Given the description of an element on the screen output the (x, y) to click on. 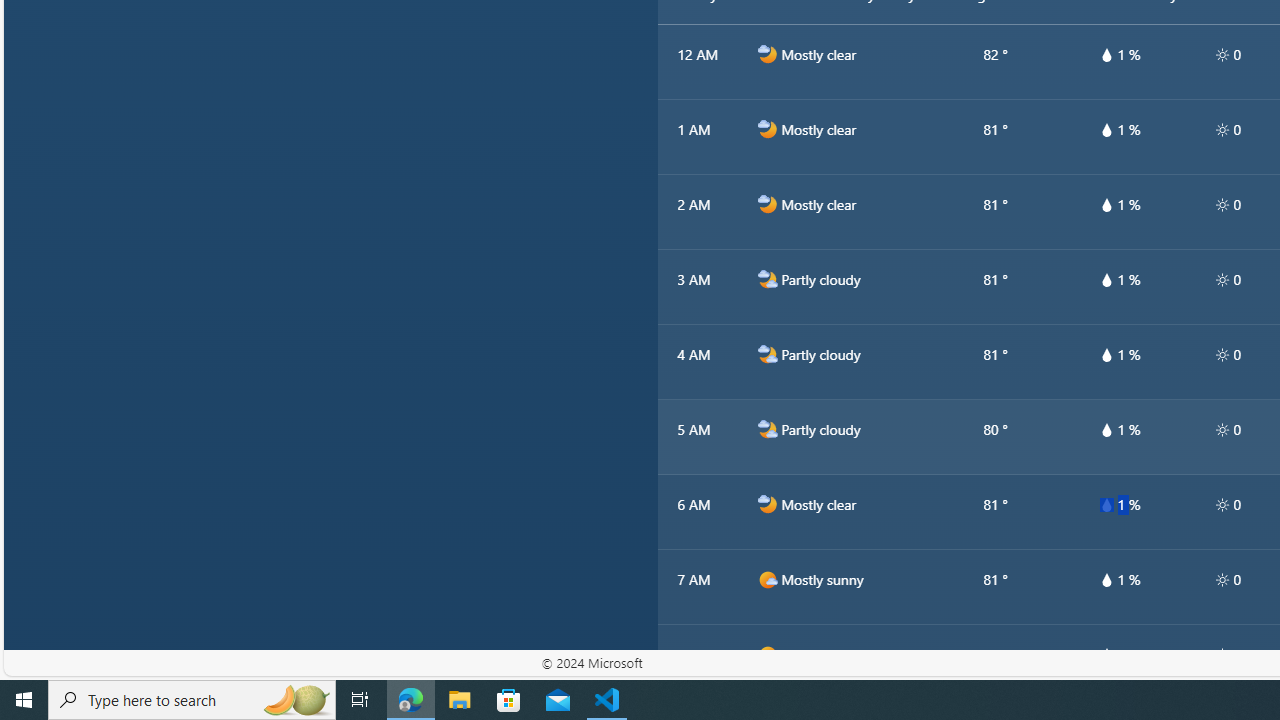
hourlyTable/uv (1222, 654)
n1000 (767, 504)
n2000 (767, 429)
hourlyTable/drop (1106, 654)
d1000 (767, 655)
